Given the description of an element on the screen output the (x, y) to click on. 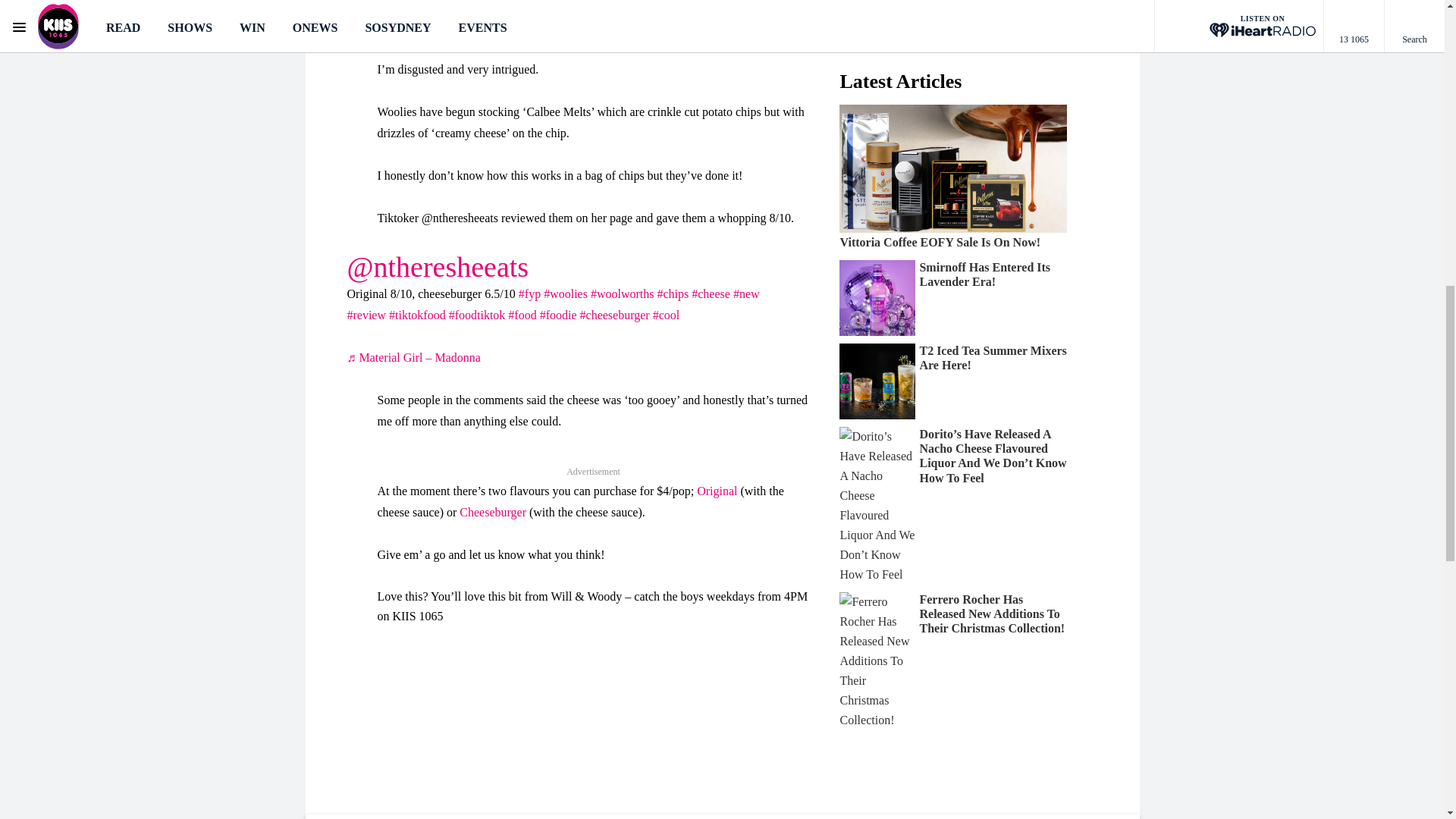
foodtiktok (476, 314)
food (521, 314)
fyp (529, 293)
new (746, 293)
cool (665, 314)
cheese (710, 293)
woolworths (622, 293)
foodie (558, 314)
woolies (565, 293)
review (365, 314)
chips (672, 293)
tiktokfood (416, 314)
cheeseburger (614, 314)
